Given the description of an element on the screen output the (x, y) to click on. 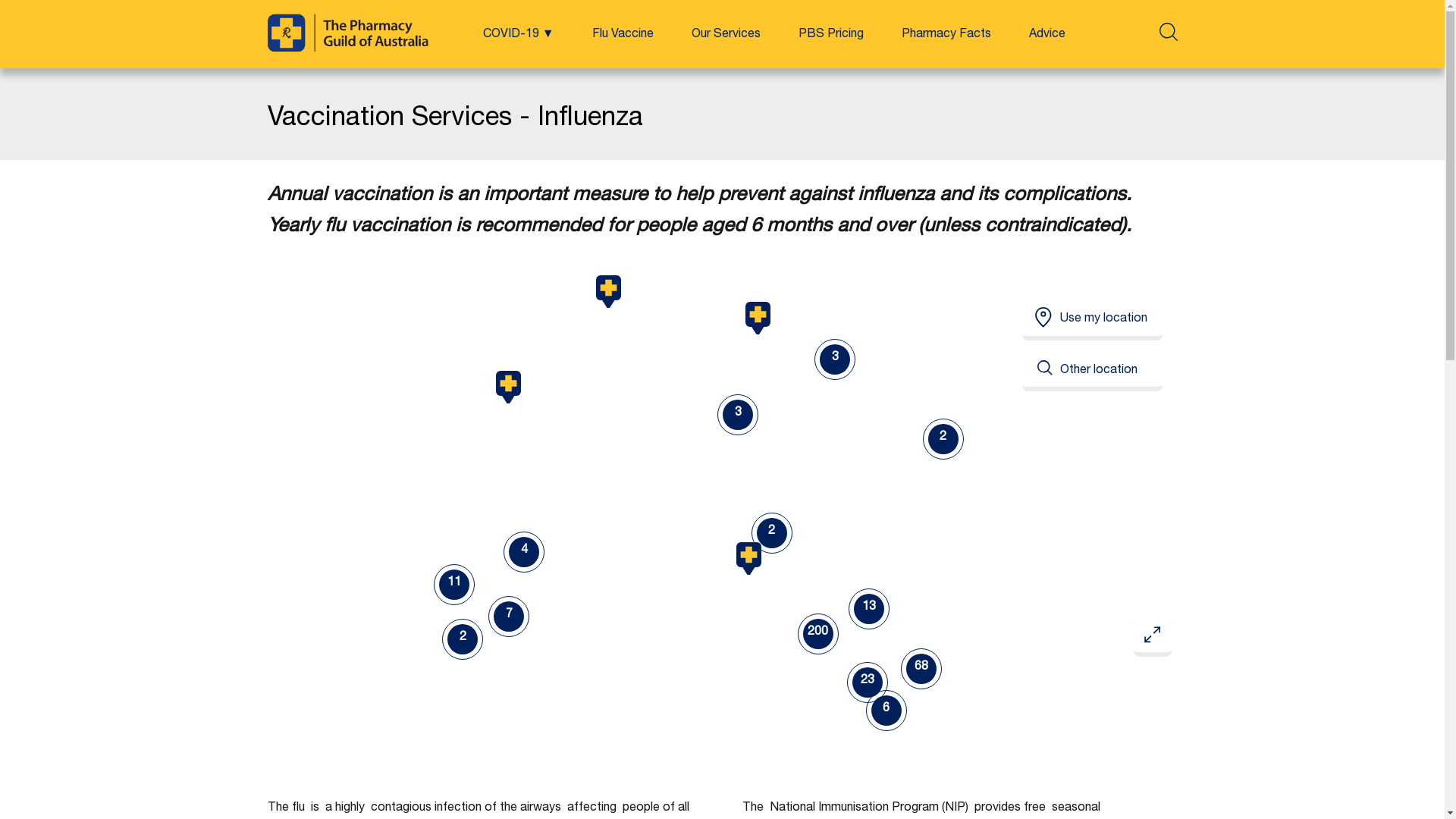
Our Services Element type: text (725, 34)
Expand Element type: text (1151, 637)
Advice Element type: text (1046, 34)
Pharmacy Facts Element type: text (945, 34)
Flu Vaccine Element type: text (621, 34)
PBS Pricing Element type: text (829, 34)
Use my location Element type: text (1092, 319)
